Given the description of an element on the screen output the (x, y) to click on. 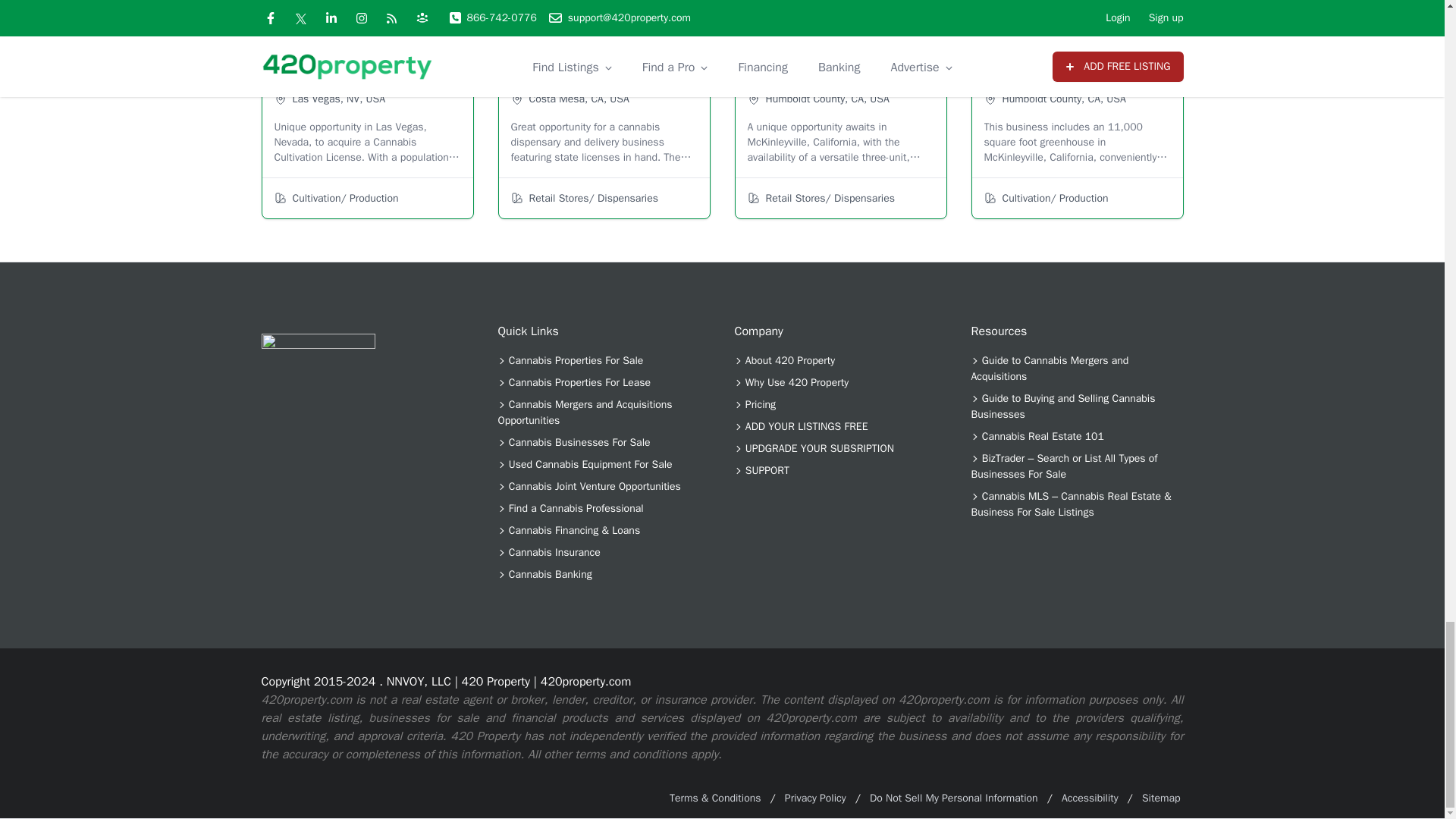
The Cannabis Industry (317, 390)
